Given the description of an element on the screen output the (x, y) to click on. 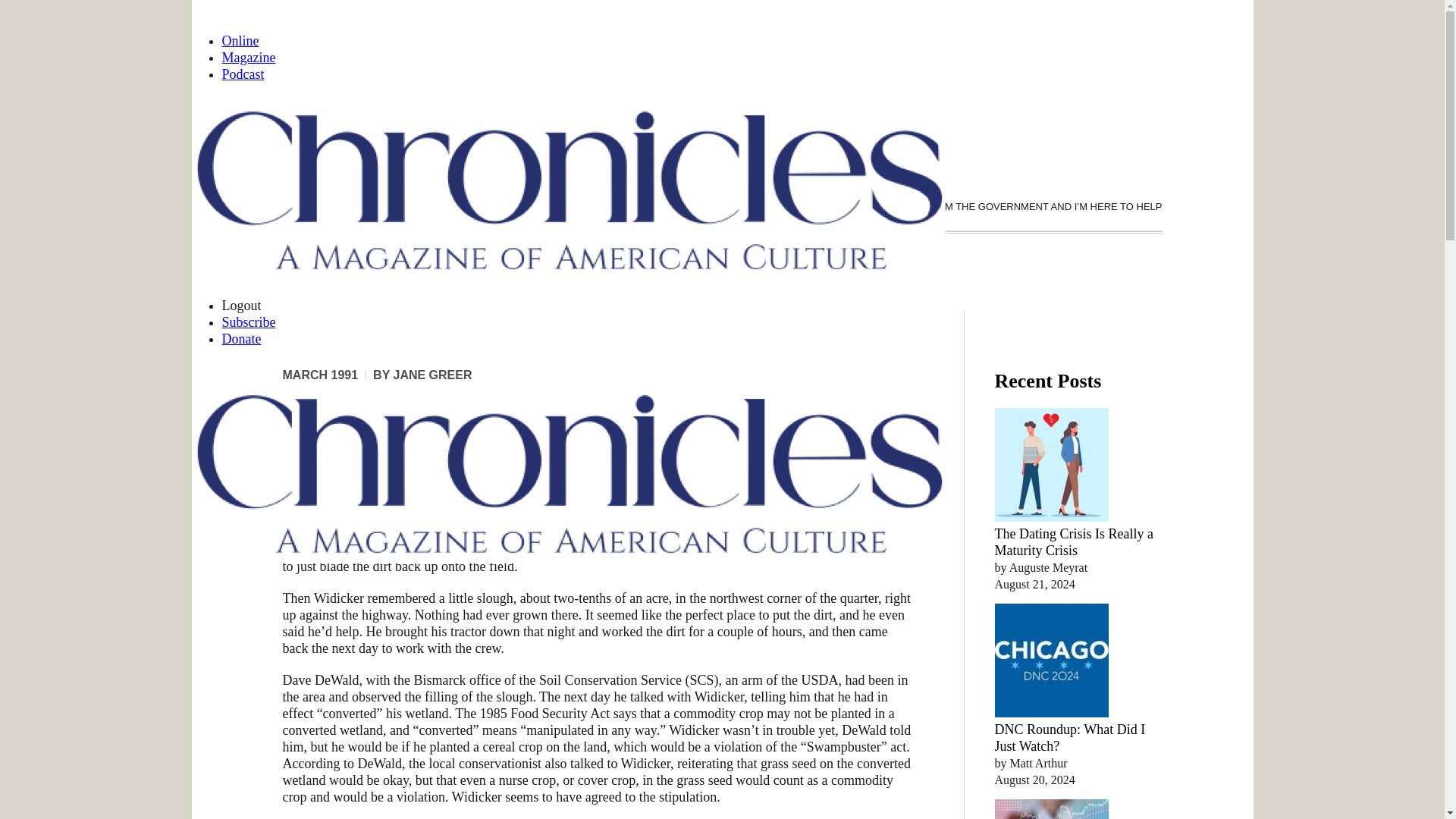
HOME (761, 206)
CORRESPONDENCE (842, 206)
JANE GREER (432, 374)
The Dating Crisis Is Really a Maturity Crisis (1073, 541)
DNC Roundup: What Did I Just Watch? (1069, 737)
March 01,  (320, 375)
Posts by Jane Greer (432, 374)
